Given the description of an element on the screen output the (x, y) to click on. 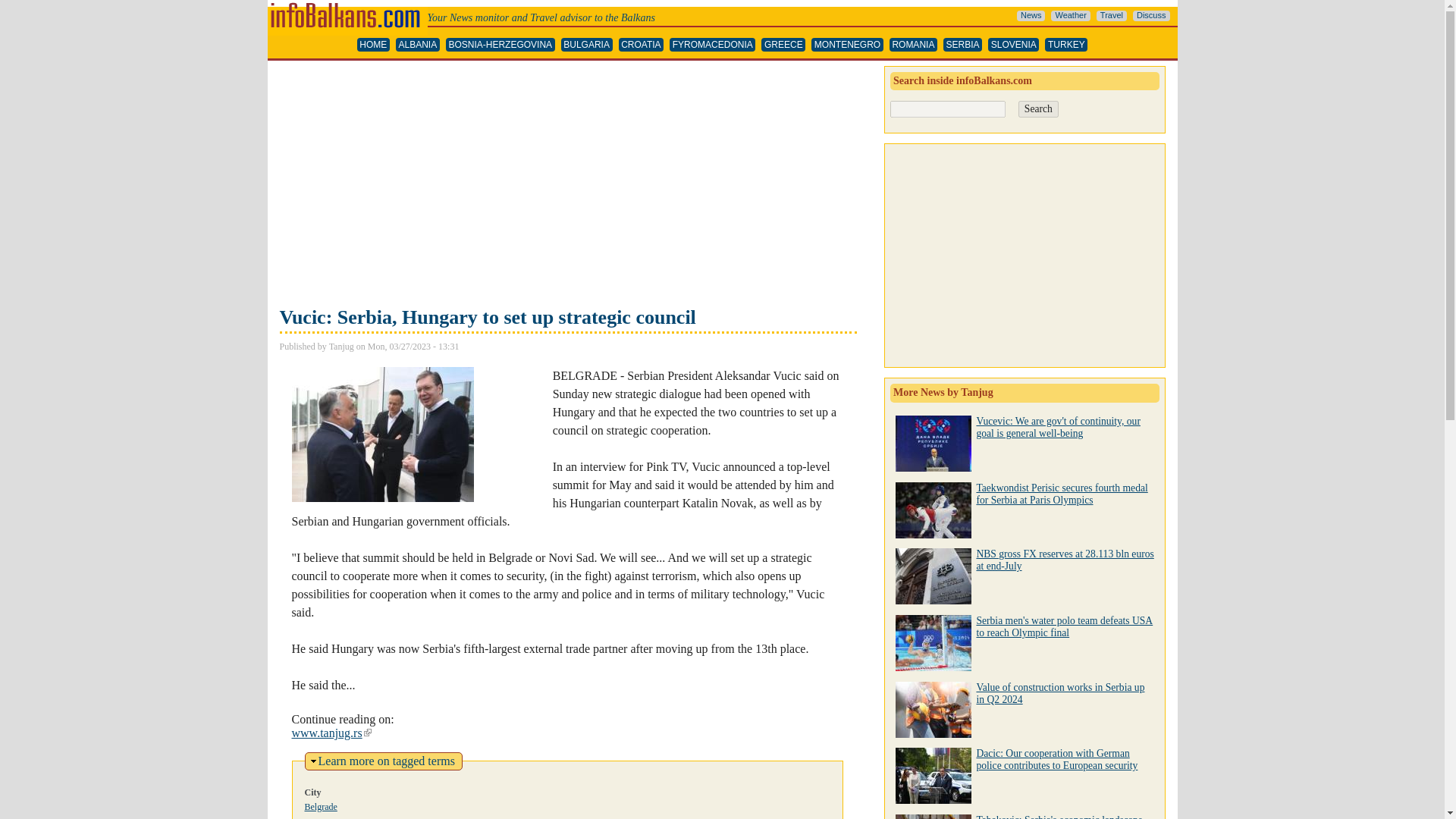
Weather (1070, 15)
FYROMACEDONIA (712, 44)
Belgrade (320, 806)
HOME (373, 44)
Home (346, 6)
ROMANIA (913, 44)
Enter the terms you wish to search for. (947, 108)
Discuss (1151, 15)
Travel (1111, 15)
